Given the description of an element on the screen output the (x, y) to click on. 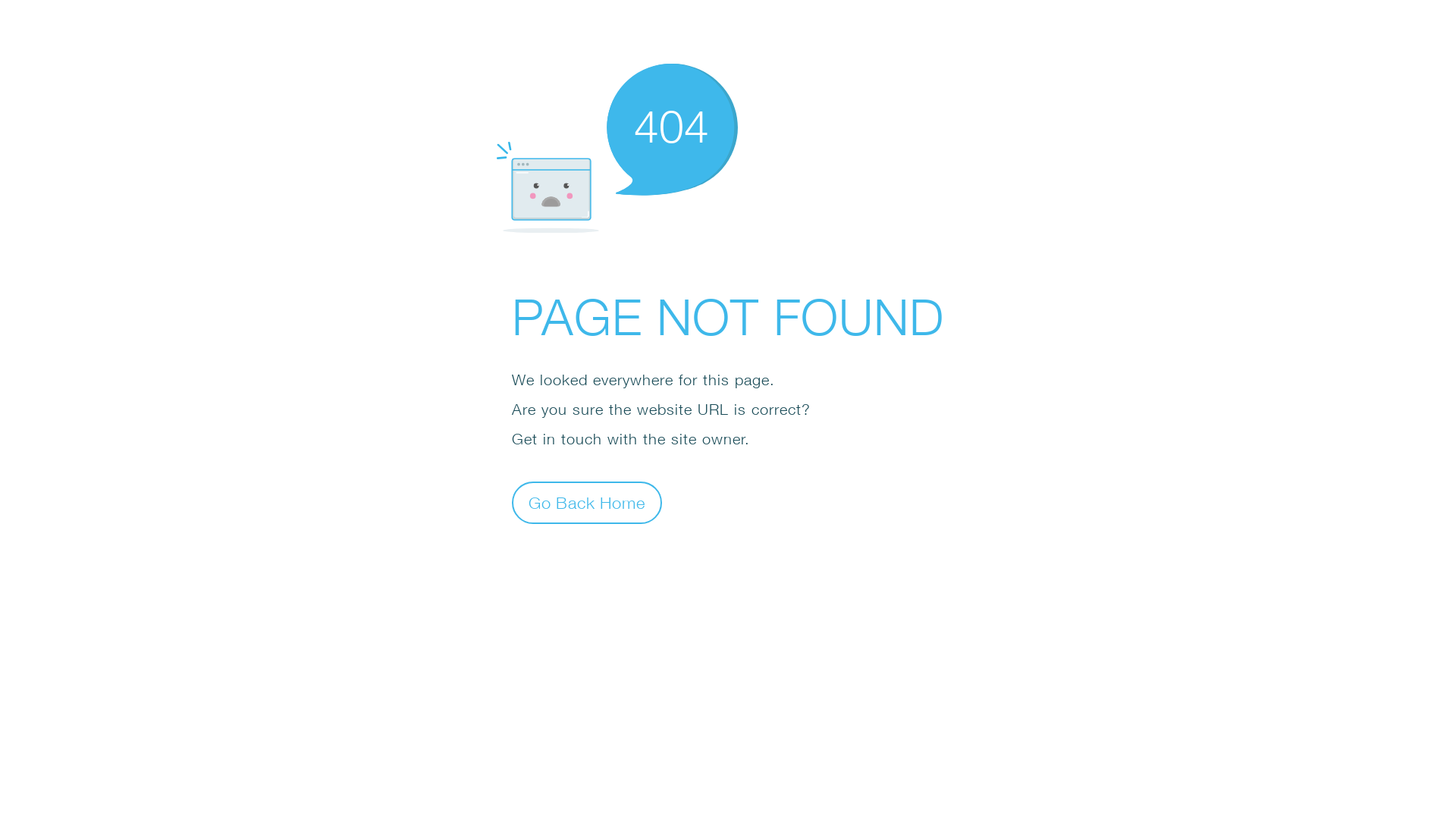
Go Back Home Element type: text (586, 502)
